Given the description of an element on the screen output the (x, y) to click on. 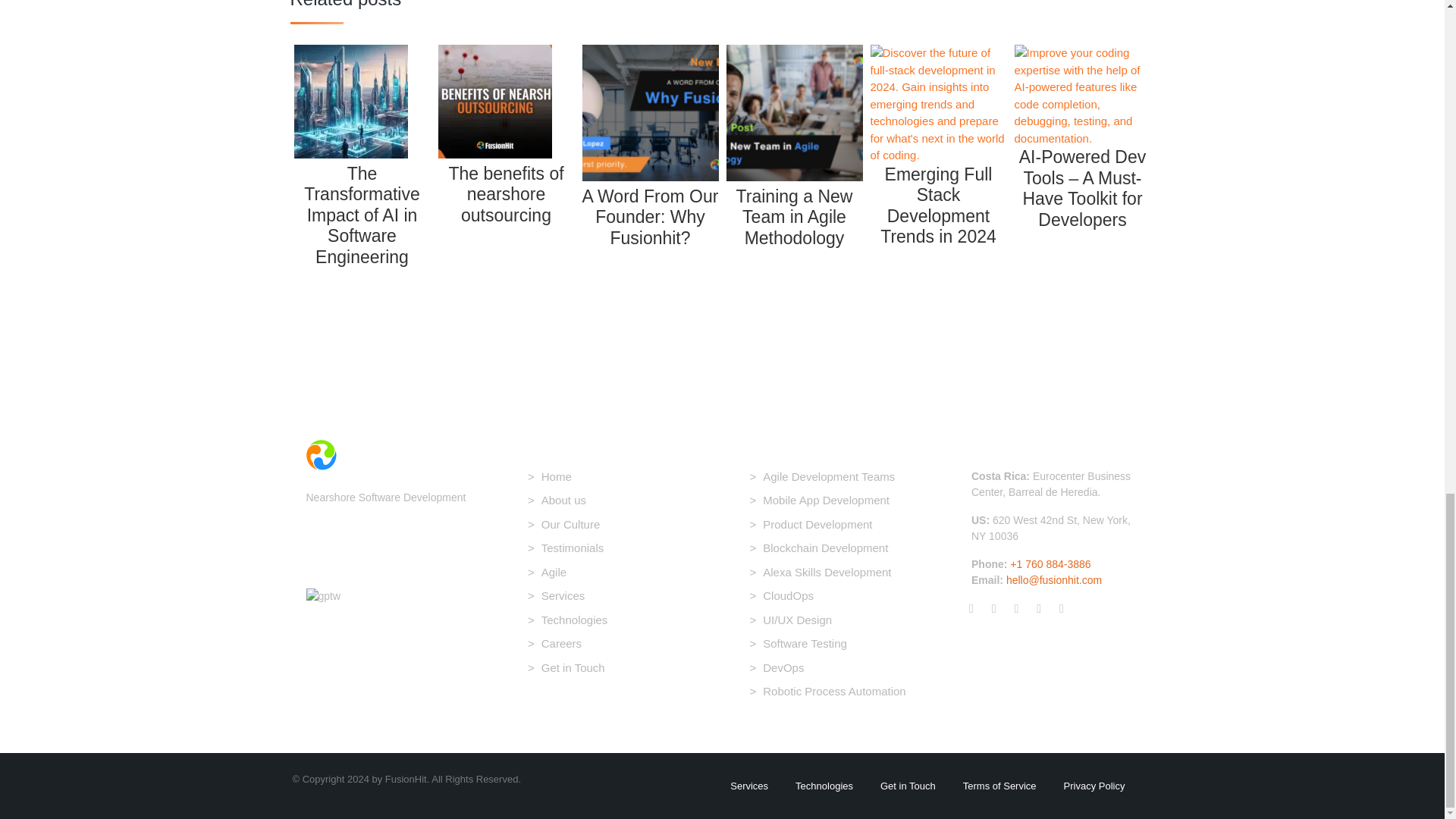
A Word From Our Founder: Why Fusionhit? 4 (650, 112)
A Word From Our Founder: Why Fusionhit? (650, 209)
The Transformative Impact of AI in Software Engineering (362, 207)
Training a New Team in Agile Methodology (794, 209)
Training a New Team in Agile Methodology 5 (794, 112)
The benefits of nearshore outsourcing (506, 187)
Emerging Full Stack Development Trends in 2024 6 (938, 104)
The benefits of nearshore outsourcing 3 (494, 154)
The Transformative Impact of AI in Software Engineering 2 (350, 154)
Emerging Full Stack Development Trends in 2024 (938, 198)
